Given the description of an element on the screen output the (x, y) to click on. 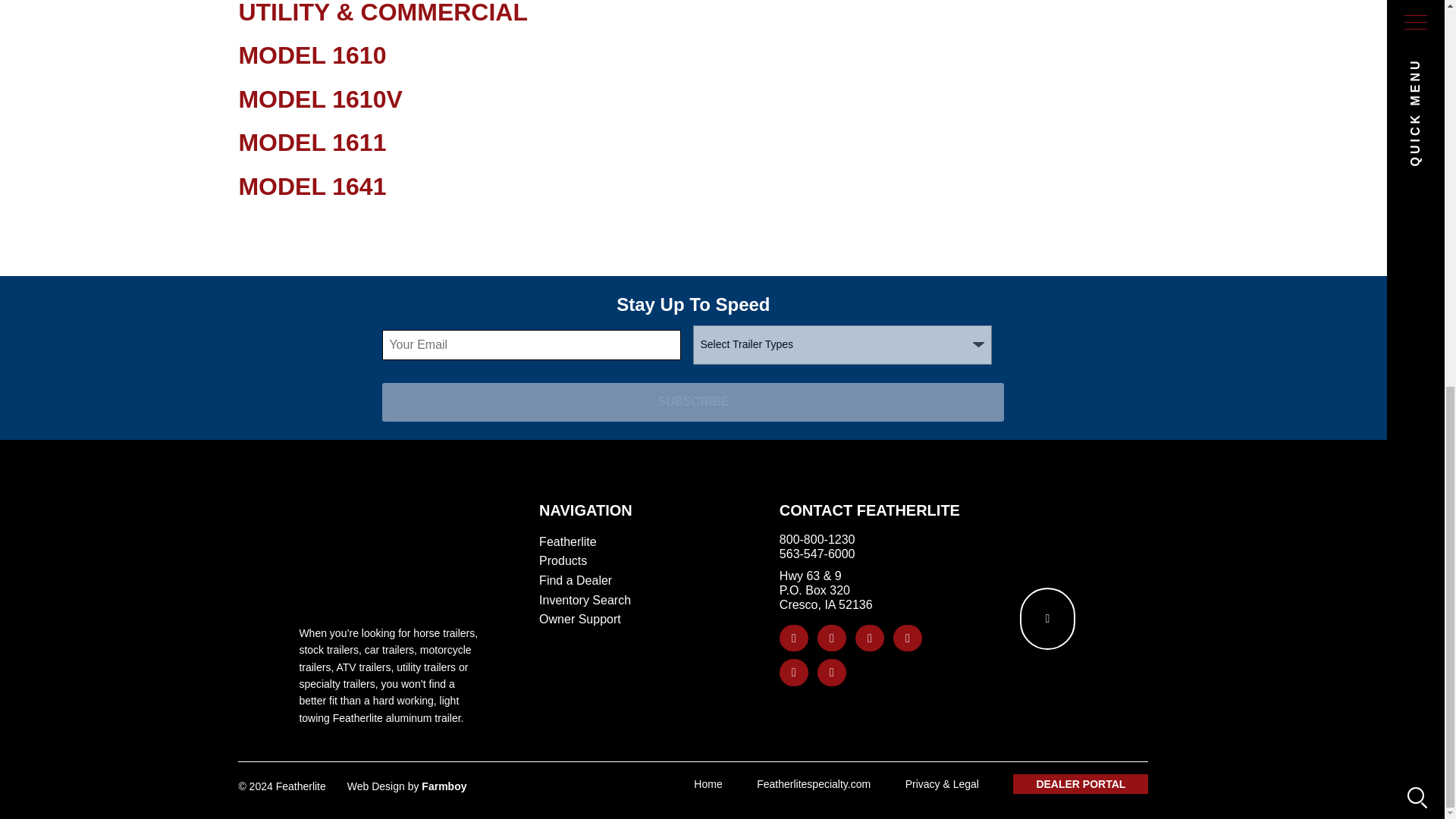
Model 1611 (311, 142)
Model 1610 (311, 54)
Model 1641 (311, 185)
Featherlite Facebook (793, 637)
Model 1610V (319, 99)
